Given the description of an element on the screen output the (x, y) to click on. 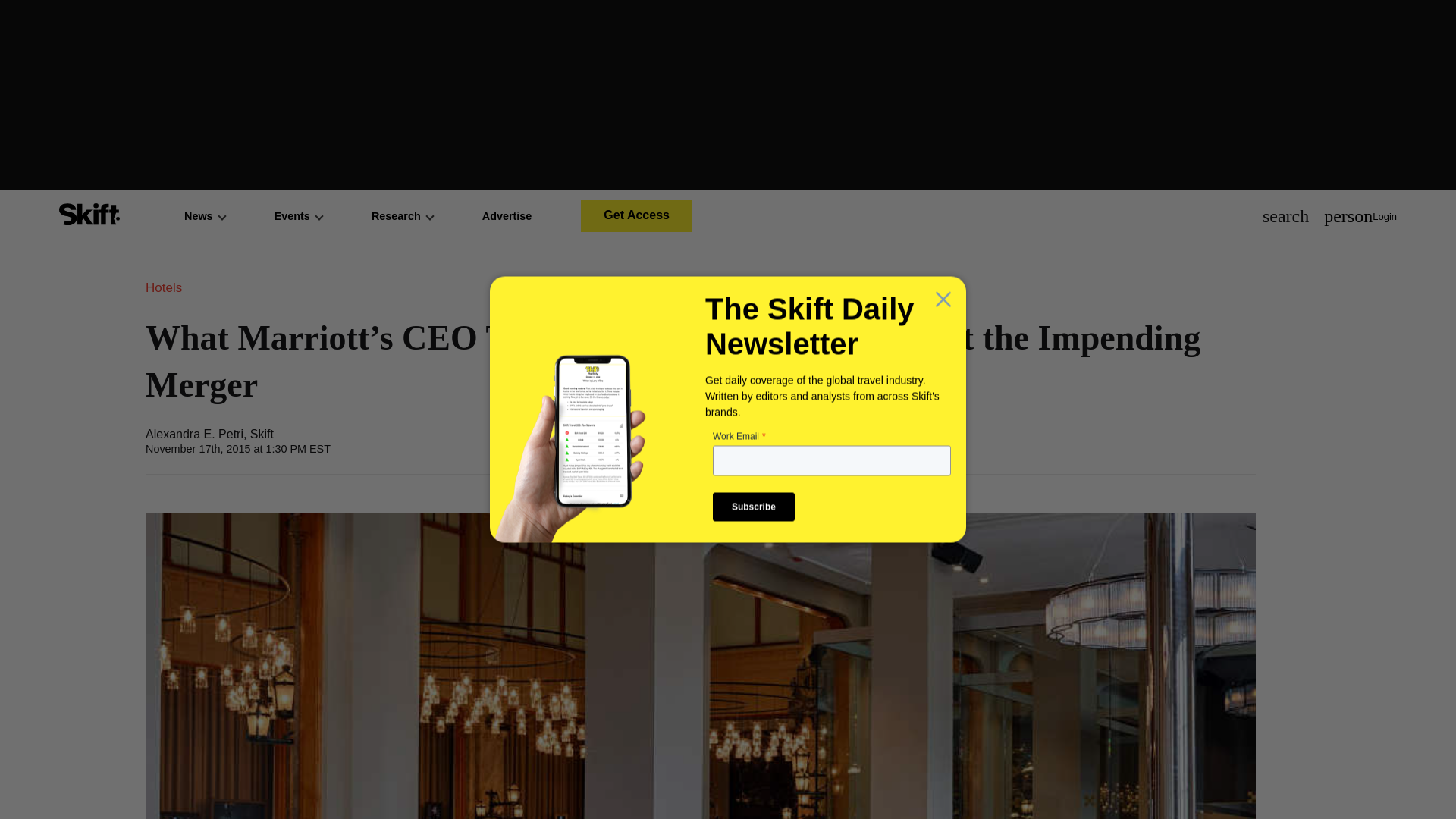
Events (298, 215)
Popup CTA (727, 409)
Research (401, 215)
